Given the description of an element on the screen output the (x, y) to click on. 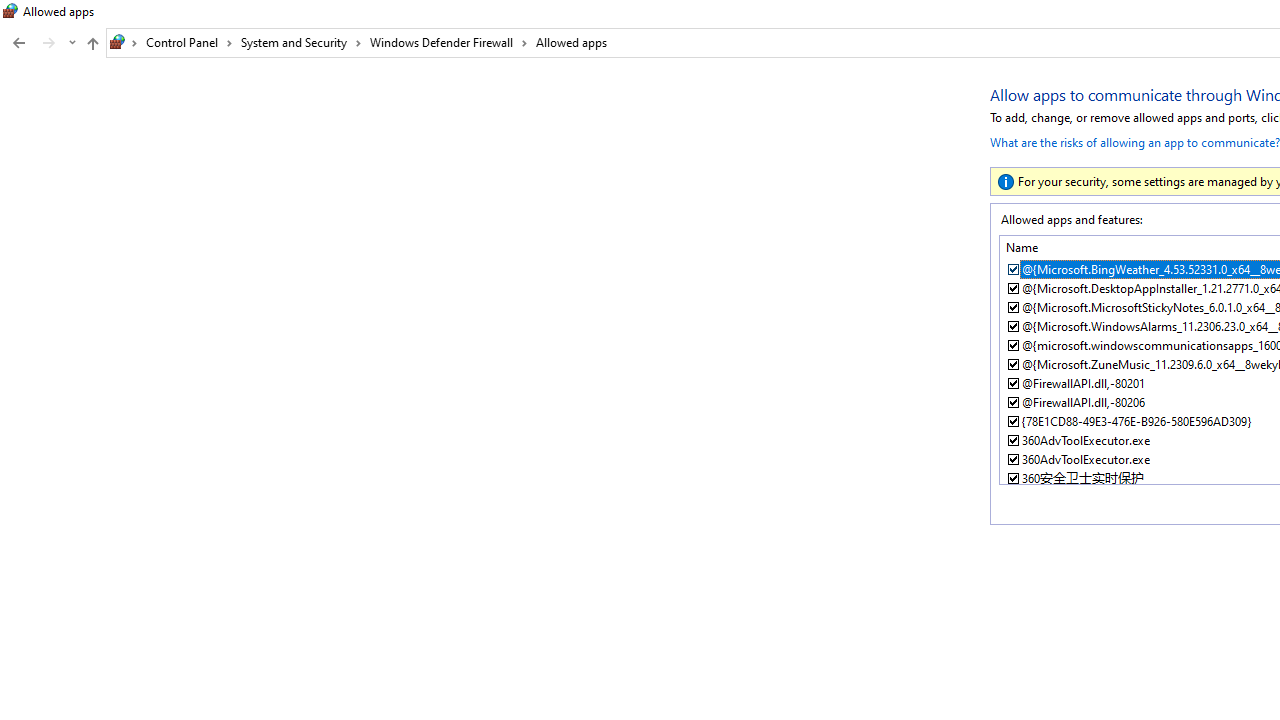
Back to Windows Defender Firewall (Alt + Left Arrow) (18, 43)
All locations (124, 42)
Recent locations (71, 43)
Allowed apps (571, 42)
Navigation buttons (41, 43)
Forward (Alt + Right Arrow) (49, 43)
What are the risks of allowing an app to communicate? (1134, 139)
Up to "Windows Defender Firewall" (Alt + Up Arrow) (92, 43)
Windows Defender Firewall (449, 42)
System (10, 11)
System (10, 11)
System and Security (301, 42)
Up band toolbar (92, 46)
Control Panel (189, 42)
